Given the description of an element on the screen output the (x, y) to click on. 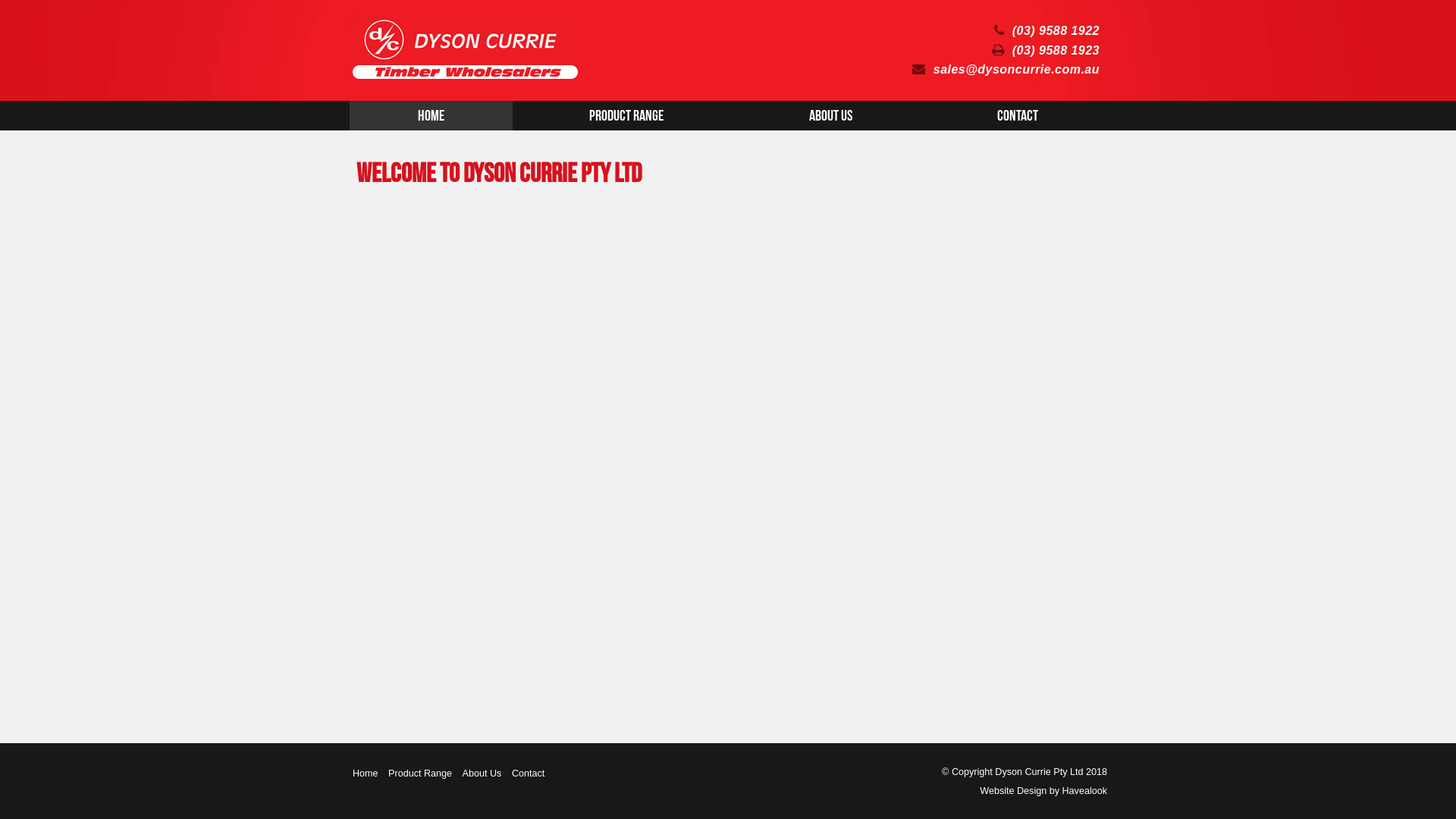
Product Range Element type: text (419, 773)
About Us Element type: text (481, 773)
Contact Element type: text (1017, 115)
Website Design Element type: text (1012, 791)
Home Element type: text (365, 773)
Home Element type: text (430, 115)
About Us Element type: text (830, 115)
Contact Element type: text (528, 773)
sales@dysoncurrie.com.au Element type: text (1005, 68)
Product Range Element type: text (625, 115)
